Given the description of an element on the screen output the (x, y) to click on. 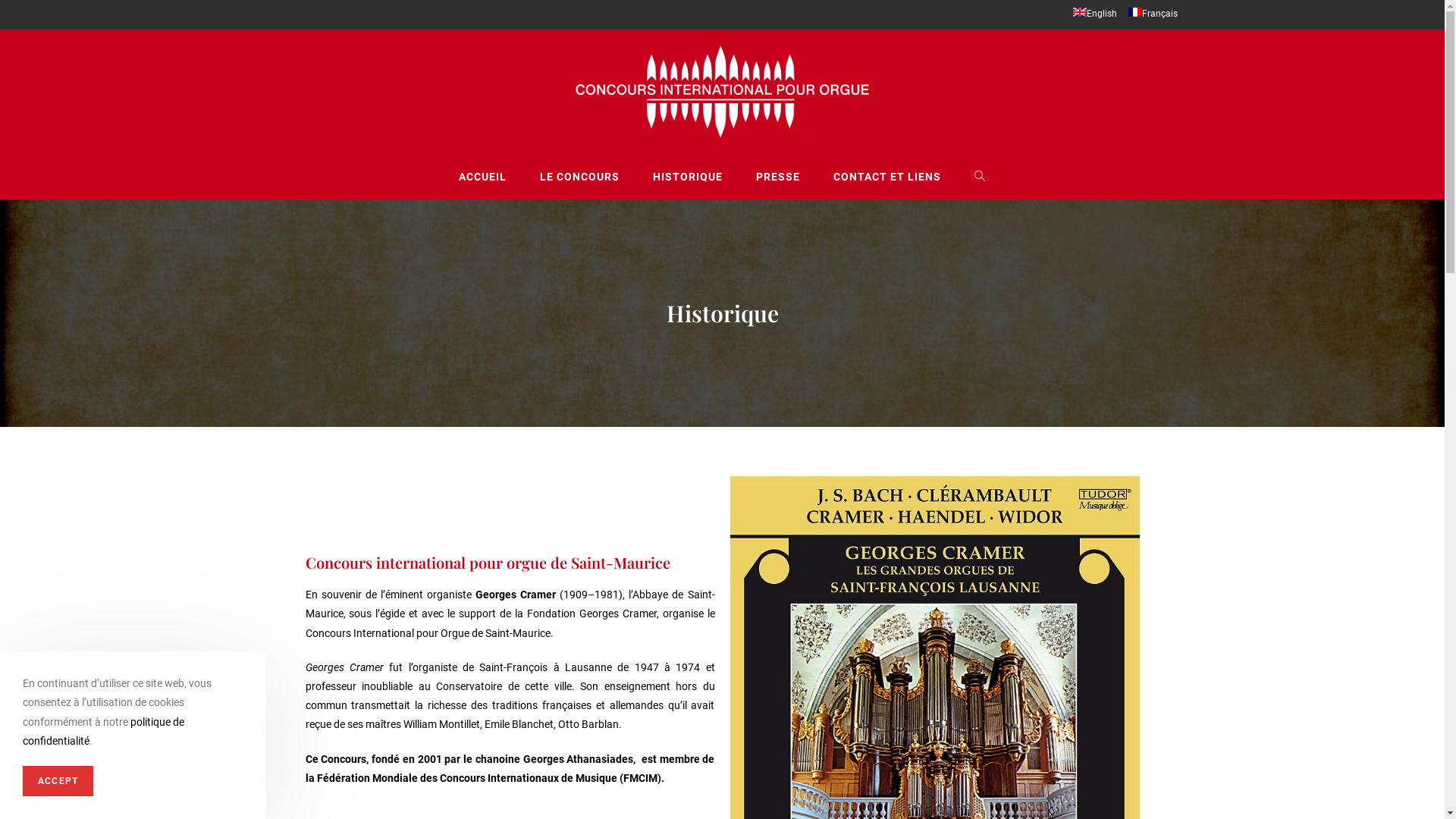
ACCUEIL Element type: text (482, 176)
PRESSE Element type: text (777, 176)
HISTORIQUE Element type: text (687, 176)
English Element type: text (1106, 792)
Privacy policy Element type: text (429, 792)
LE CONCOURS Element type: text (579, 176)
Guillaume Allet Element type: text (335, 792)
CONTACT ET LIENS Element type: text (886, 176)
English Element type: text (1094, 14)
ACCEPT Element type: text (57, 780)
